Given the description of an element on the screen output the (x, y) to click on. 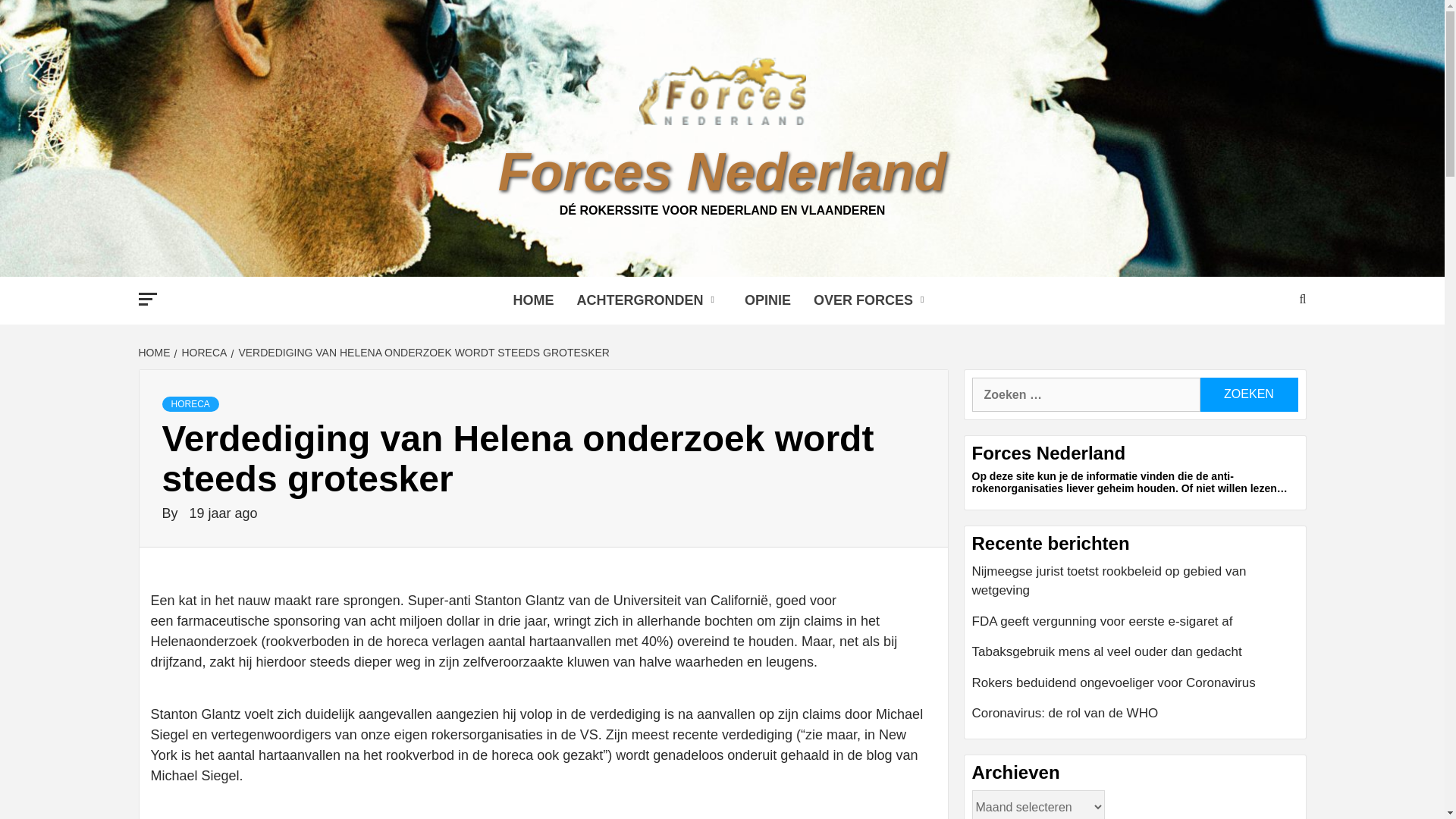
Zoeken (1248, 394)
Forces Nederland (722, 171)
Zoeken (1248, 394)
FDA geeft vergunning voor eerste e-sigaret af (1133, 626)
OPINIE (767, 300)
HOME (534, 300)
HOME (155, 352)
HORECA (202, 352)
HORECA (190, 403)
VERDEDIGING VAN HELENA ONDERZOEK WORDT STEEDS GROTESKER (421, 352)
OVER FORCES (872, 300)
Nijmeegse jurist toetst rookbeleid op gebied van wetgeving (1133, 586)
Zoeken (1248, 394)
ACHTERGRONDEN (649, 300)
